Given the description of an element on the screen output the (x, y) to click on. 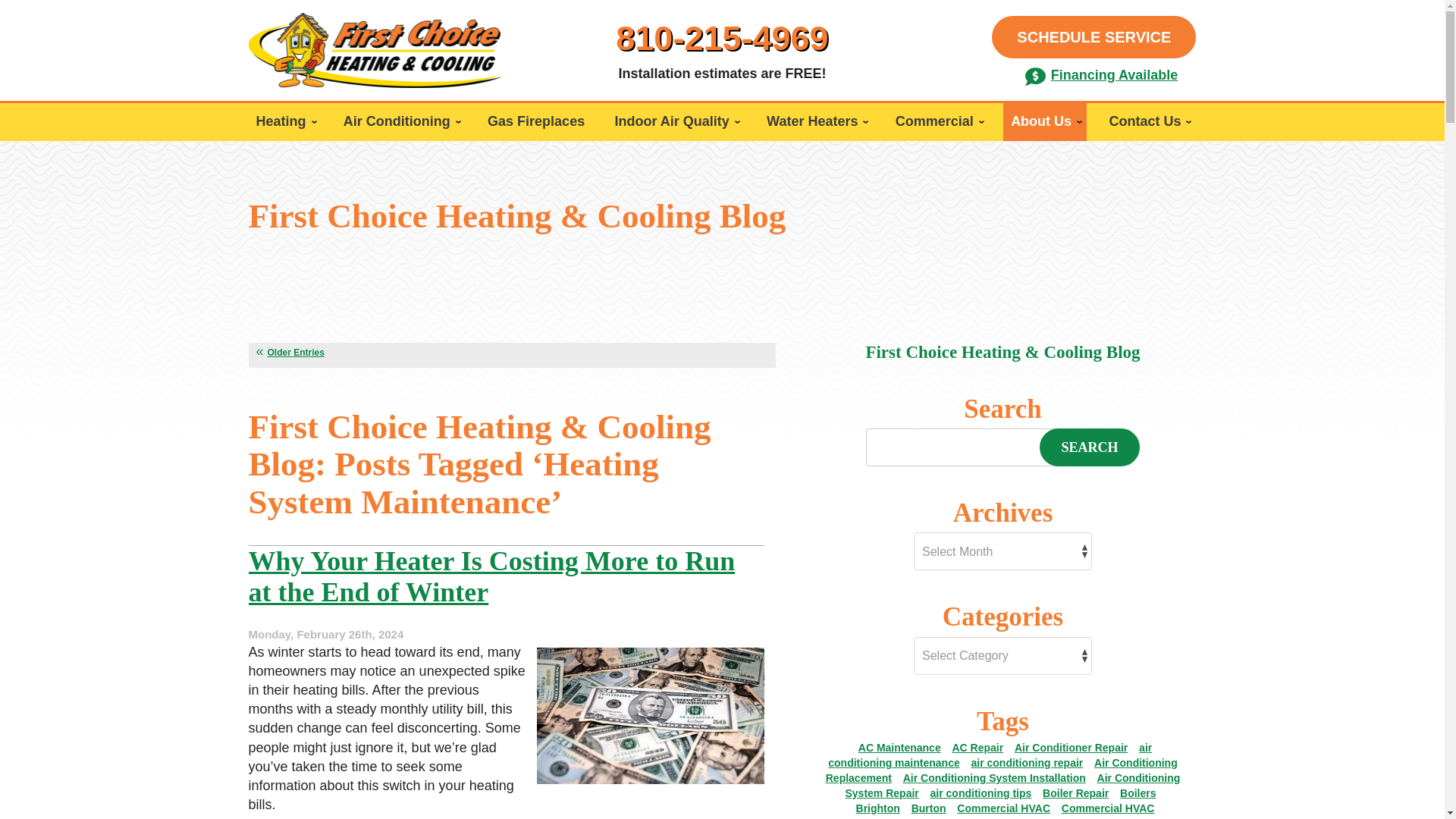
810-215-4969 (721, 37)
Gas Fireplaces (536, 121)
Financing Available (1101, 74)
Heating (284, 121)
SCHEDULE SERVICE (1093, 36)
Air Conditioning (400, 121)
Indoor Air Quality (675, 121)
